Given the description of an element on the screen output the (x, y) to click on. 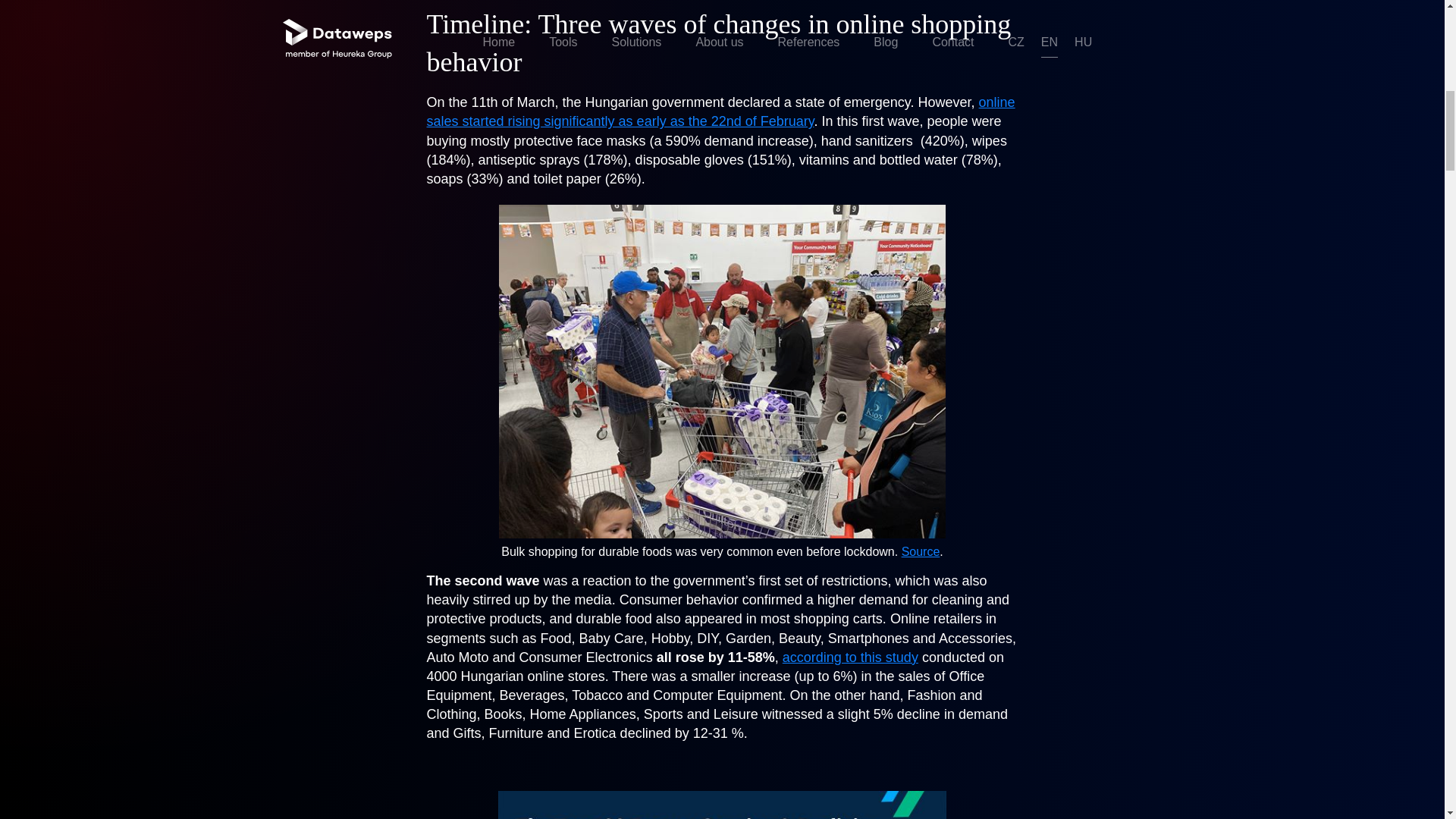
according to this study (850, 657)
Source (920, 551)
